Given the description of an element on the screen output the (x, y) to click on. 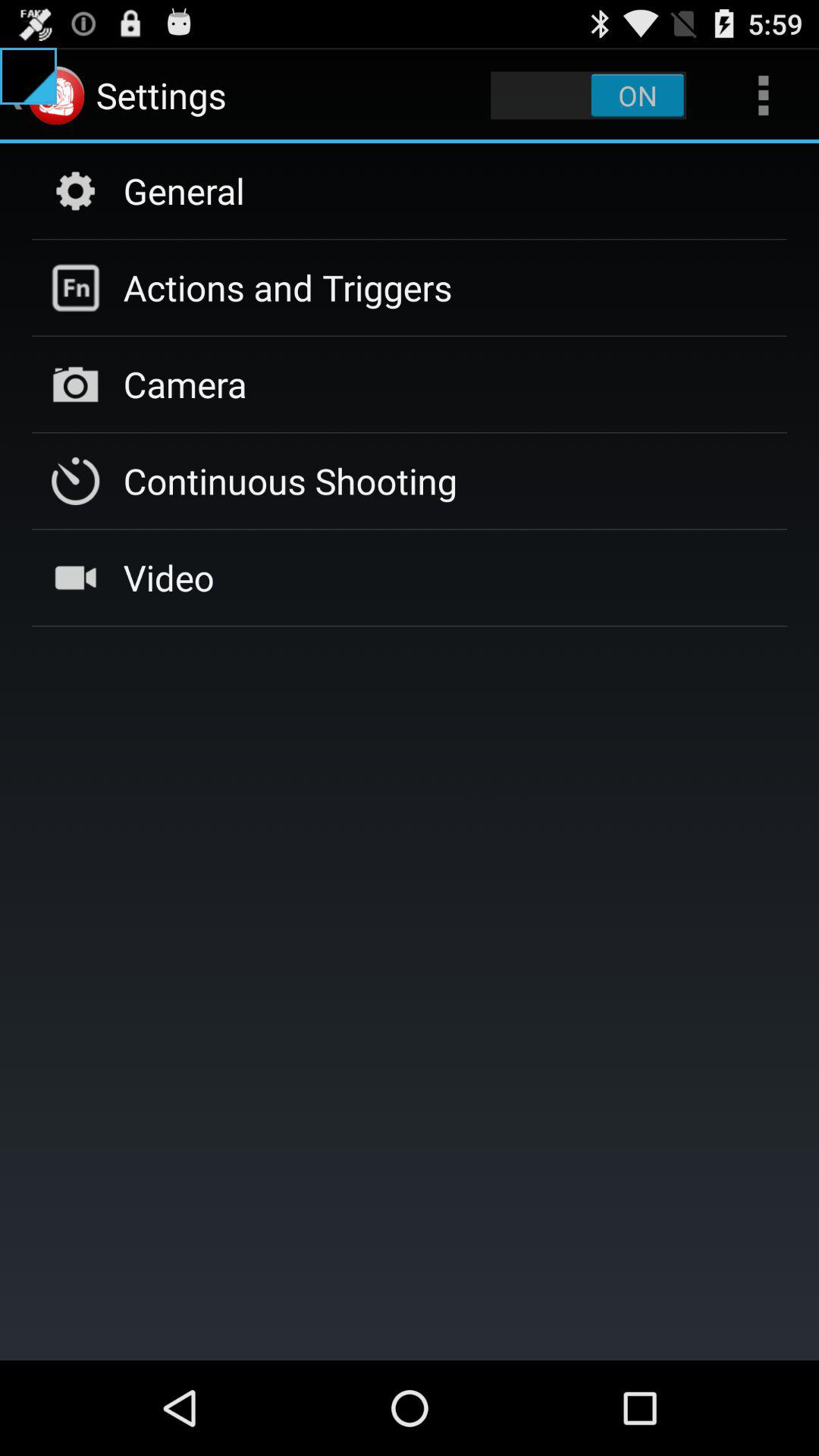
press item above video icon (290, 480)
